Given the description of an element on the screen output the (x, y) to click on. 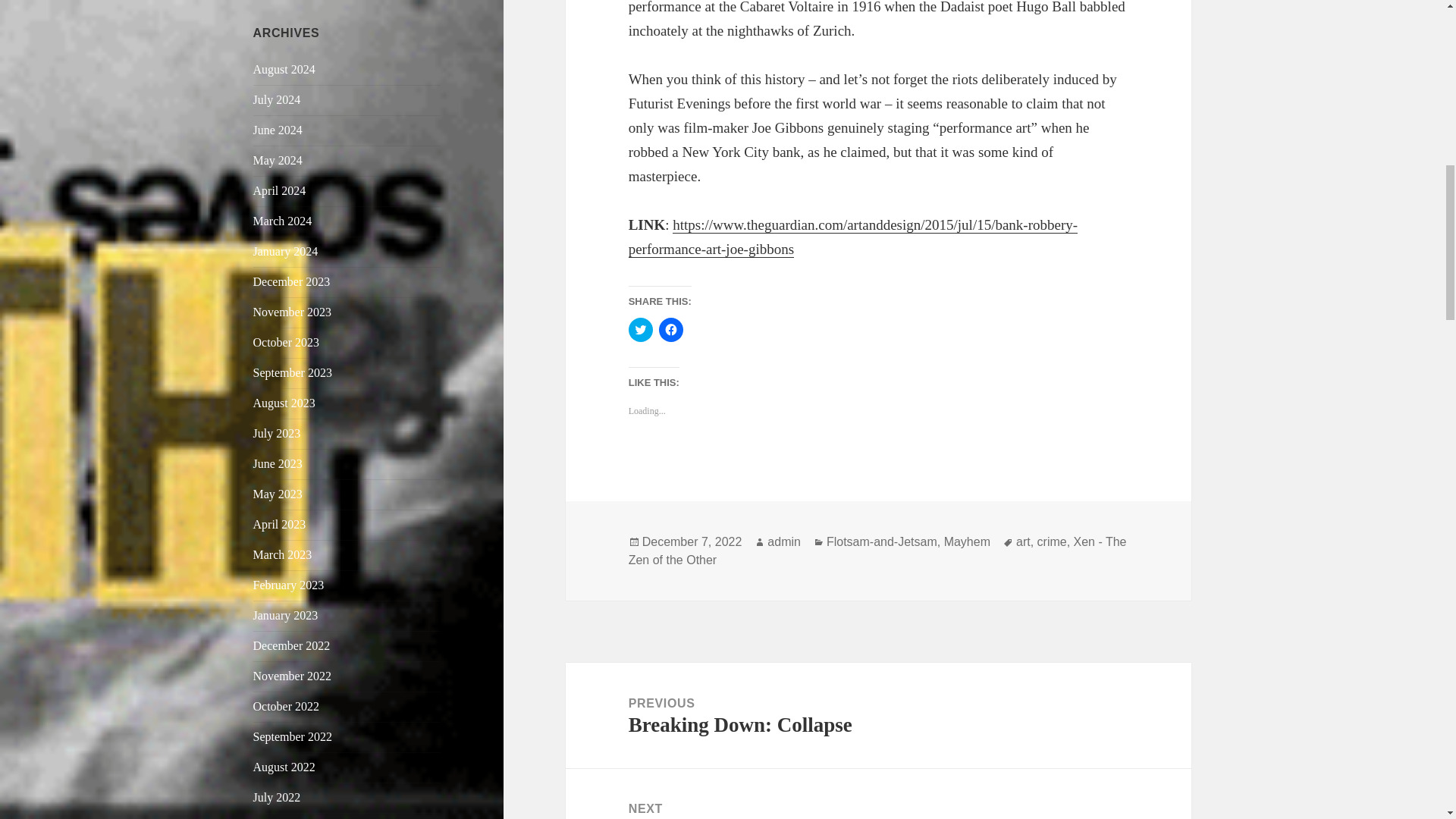
Click to share on Twitter (640, 329)
March 2024 (283, 220)
March 2023 (283, 554)
April 2023 (279, 523)
June 2024 (277, 129)
January 2024 (285, 250)
September 2022 (292, 736)
June 2023 (277, 463)
December 2023 (291, 281)
January 2023 (285, 615)
